Given the description of an element on the screen output the (x, y) to click on. 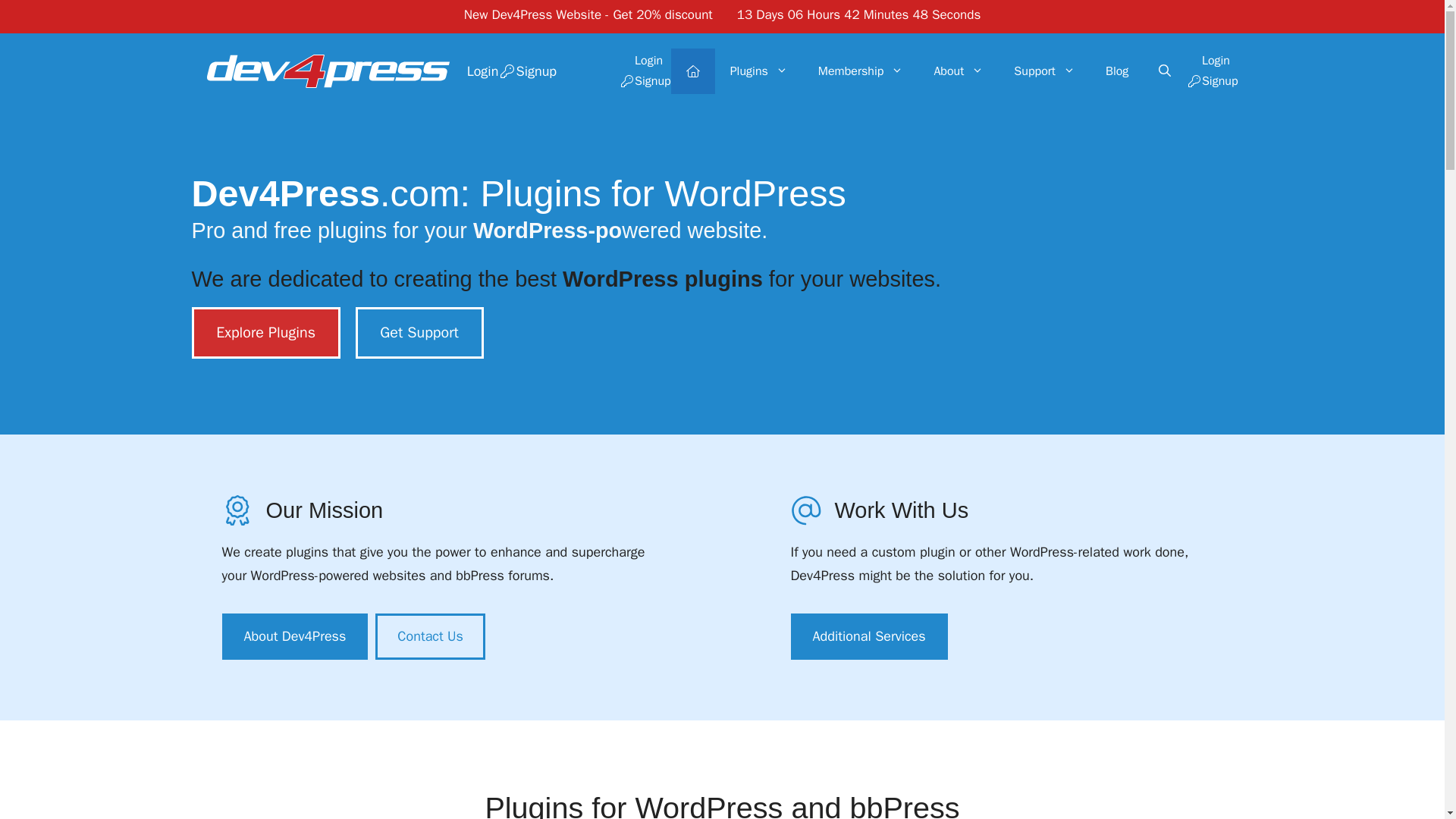
Dev4Press Knowledge Base (1044, 71)
Membership (860, 71)
Signup (643, 81)
Dev4Press (327, 70)
About (958, 71)
Login (472, 71)
Plugins (758, 71)
Login (643, 60)
Support (1044, 71)
Dev4Press Home Page (692, 71)
